Given the description of an element on the screen output the (x, y) to click on. 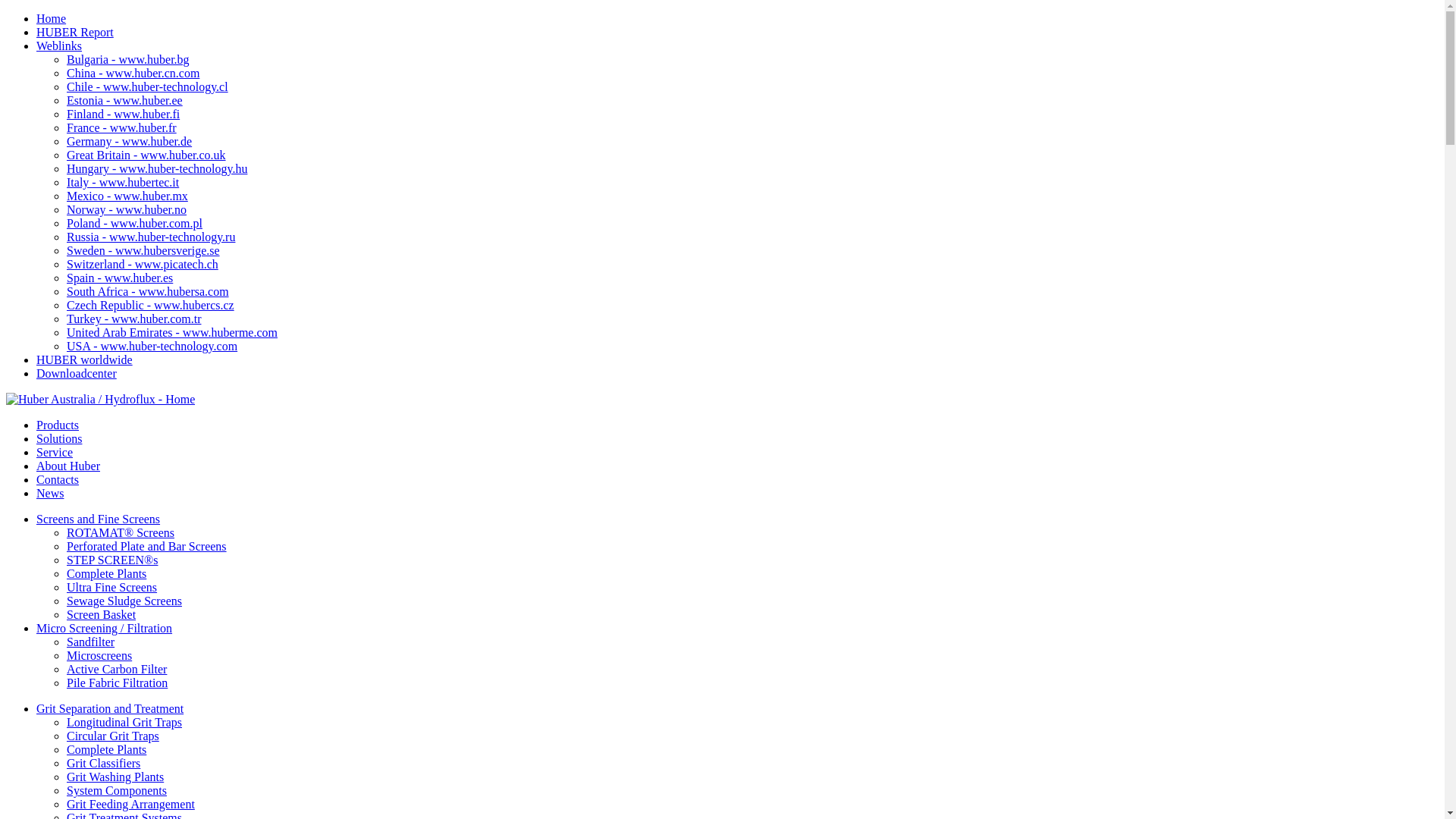
Micro Screening / Filtration Element type: text (104, 627)
Grit Washing Plants Element type: text (114, 776)
Chile - www.huber-technology.cl Element type: text (147, 86)
Contacts Element type: text (57, 479)
Microscreens Element type: text (98, 655)
System Components Element type: text (116, 790)
HUBER worldwide Element type: text (84, 359)
Poland - www.huber.com.pl Element type: text (134, 222)
Germany - www.huber.de Element type: text (128, 140)
Complete Plants Element type: text (106, 749)
France - www.huber.fr Element type: text (121, 127)
Weblinks Element type: text (58, 45)
Estonia - www.huber.ee Element type: text (124, 100)
Active Carbon Filter Element type: text (116, 668)
Mexico - www.huber.mx Element type: text (127, 195)
Sandfilter Element type: text (90, 641)
Great Britain - www.huber.co.uk Element type: text (145, 154)
Downloadcenter Element type: text (76, 373)
About Huber Element type: text (68, 465)
Grit Feeding Arrangement Element type: text (130, 803)
Sweden - www.hubersverige.se Element type: text (142, 250)
Perforated Plate and Bar Screens Element type: text (146, 545)
Italy - www.hubertec.it Element type: text (122, 181)
Screens and Fine Screens Element type: text (98, 518)
Finland - www.huber.fi Element type: text (122, 113)
Products Element type: text (57, 424)
Turkey - www.huber.com.tr Element type: text (133, 318)
South Africa - www.hubersa.com Element type: text (147, 291)
Service Element type: text (54, 451)
News Element type: text (49, 492)
Ultra Fine Screens Element type: text (111, 586)
Czech Republic - www.hubercs.cz Element type: text (150, 304)
Sewage Sludge Screens Element type: text (124, 600)
HUBER Report Element type: text (74, 31)
Home Element type: text (50, 18)
Russia - www.huber-technology.ru Element type: text (150, 236)
Grit Separation and Treatment Element type: text (109, 708)
Bulgaria - www.huber.bg Element type: text (127, 59)
Grit Classifiers Element type: text (103, 762)
Norway - www.huber.no Element type: text (126, 209)
Spain - www.huber.es Element type: text (119, 277)
China - www.huber.cn.com Element type: text (132, 72)
Switzerland - www.picatech.ch Element type: text (142, 263)
Screen Basket Element type: text (100, 614)
Solutions Element type: text (58, 438)
Circular Grit Traps Element type: text (112, 735)
USA - www.huber-technology.com Element type: text (151, 345)
Longitudinal Grit Traps Element type: text (124, 721)
Complete Plants Element type: text (106, 573)
Pile Fabric Filtration Element type: text (116, 682)
United Arab Emirates - www.huberme.com Element type: text (171, 332)
Hungary - www.huber-technology.hu Element type: text (156, 168)
